Given the description of an element on the screen output the (x, y) to click on. 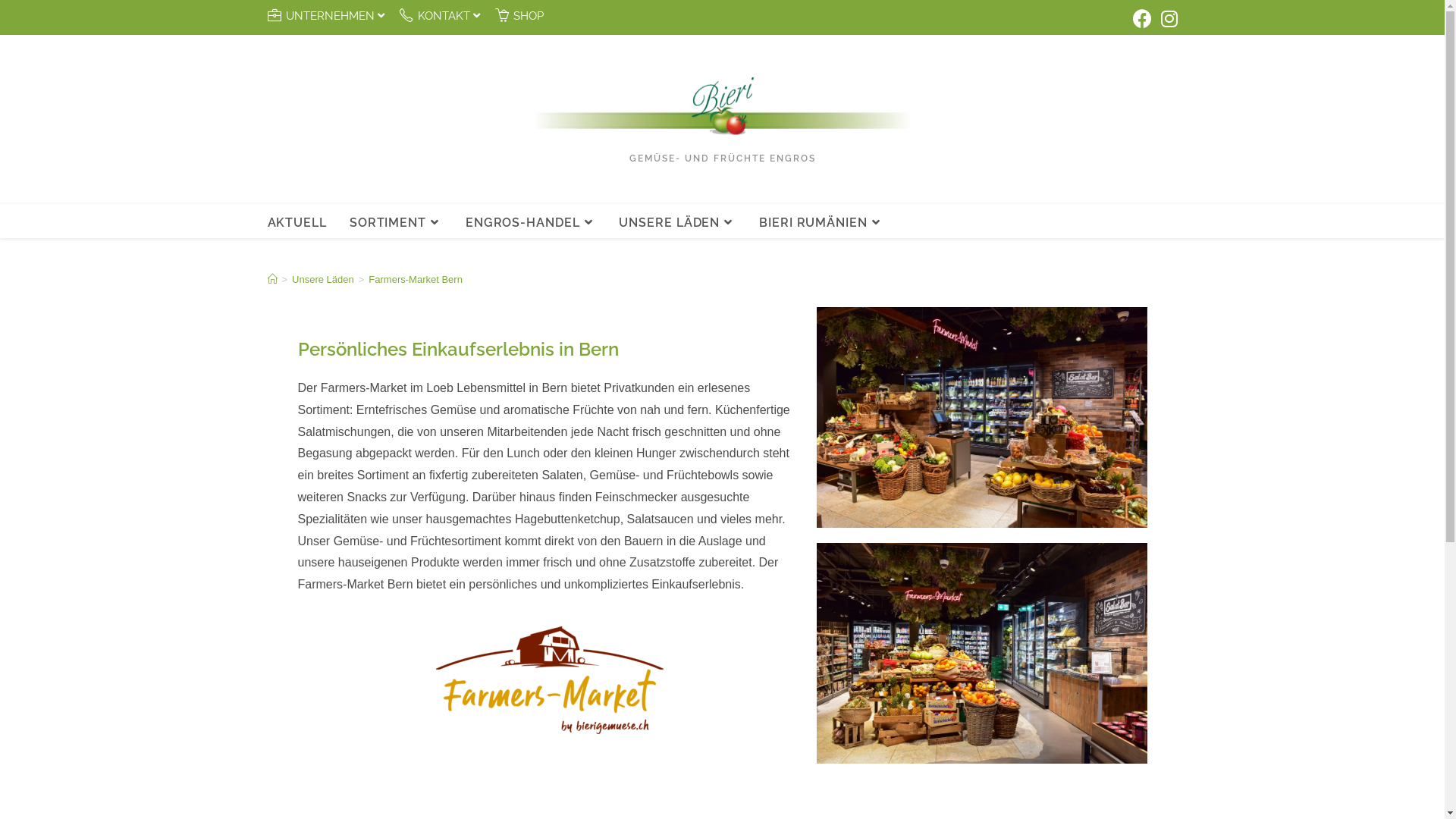
Farmers-Market Bern Element type: text (415, 279)
AKTUELL Element type: text (297, 222)
UNTERNEHMEN Element type: text (326, 15)
KONTAKT Element type: text (440, 15)
SORTIMENT Element type: text (396, 222)
ENGROS-HANDEL Element type: text (531, 222)
SHOP Element type: text (518, 15)
